Given the description of an element on the screen output the (x, y) to click on. 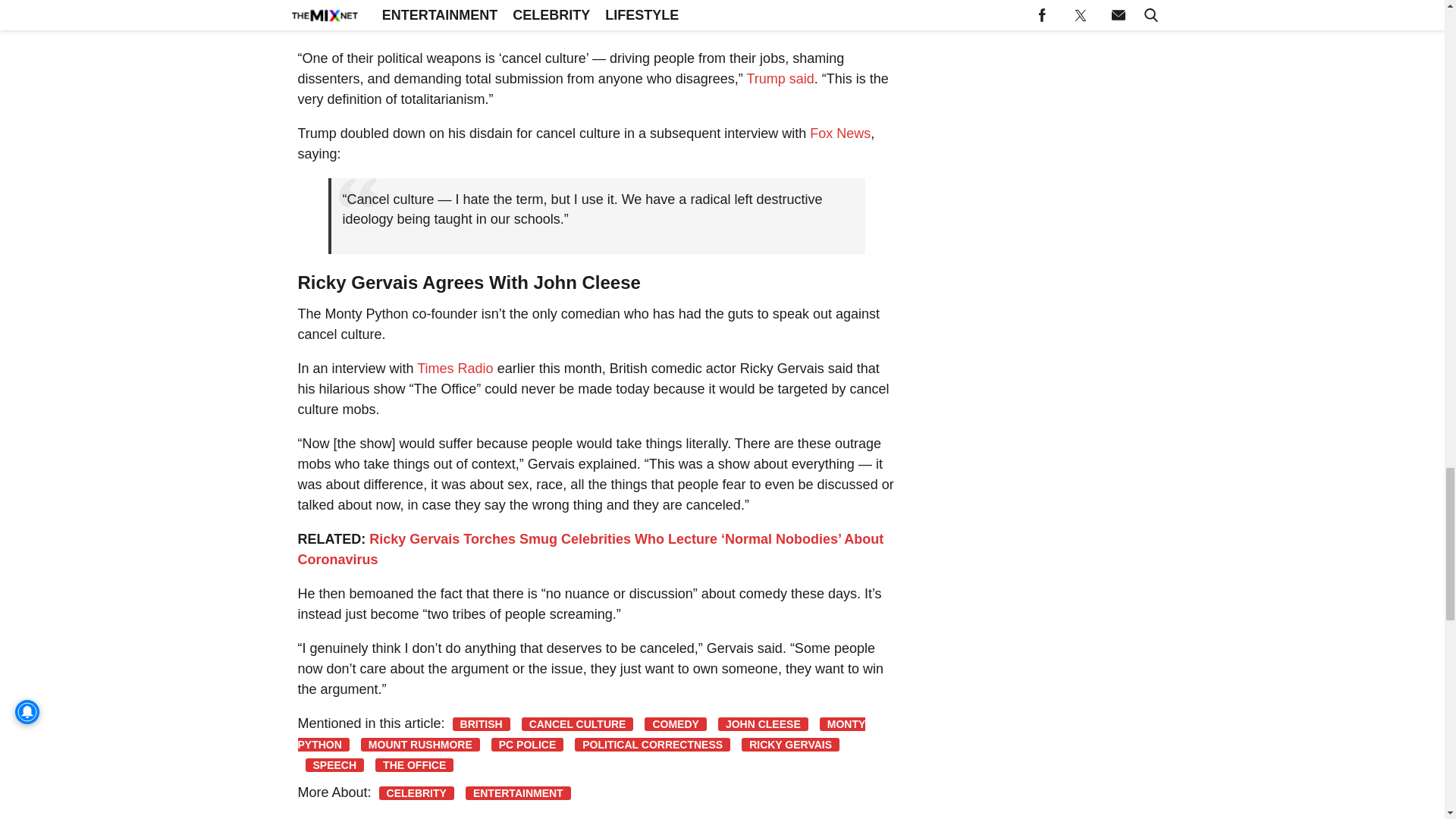
THE OFFICE (413, 765)
POLITICAL CORRECTNESS (652, 744)
CANCEL CULTURE (577, 724)
Fox News (839, 133)
ENTERTAINMENT (517, 793)
SPEECH (334, 765)
RICKY GERVAIS (790, 744)
BRITISH (481, 724)
COMEDY (675, 724)
JOHN CLEESE (762, 724)
PC POLICE (527, 744)
Trump said (779, 78)
Times Radio (454, 368)
MOUNT RUSHMORE (420, 744)
MONTY PYTHON (580, 734)
